Given the description of an element on the screen output the (x, y) to click on. 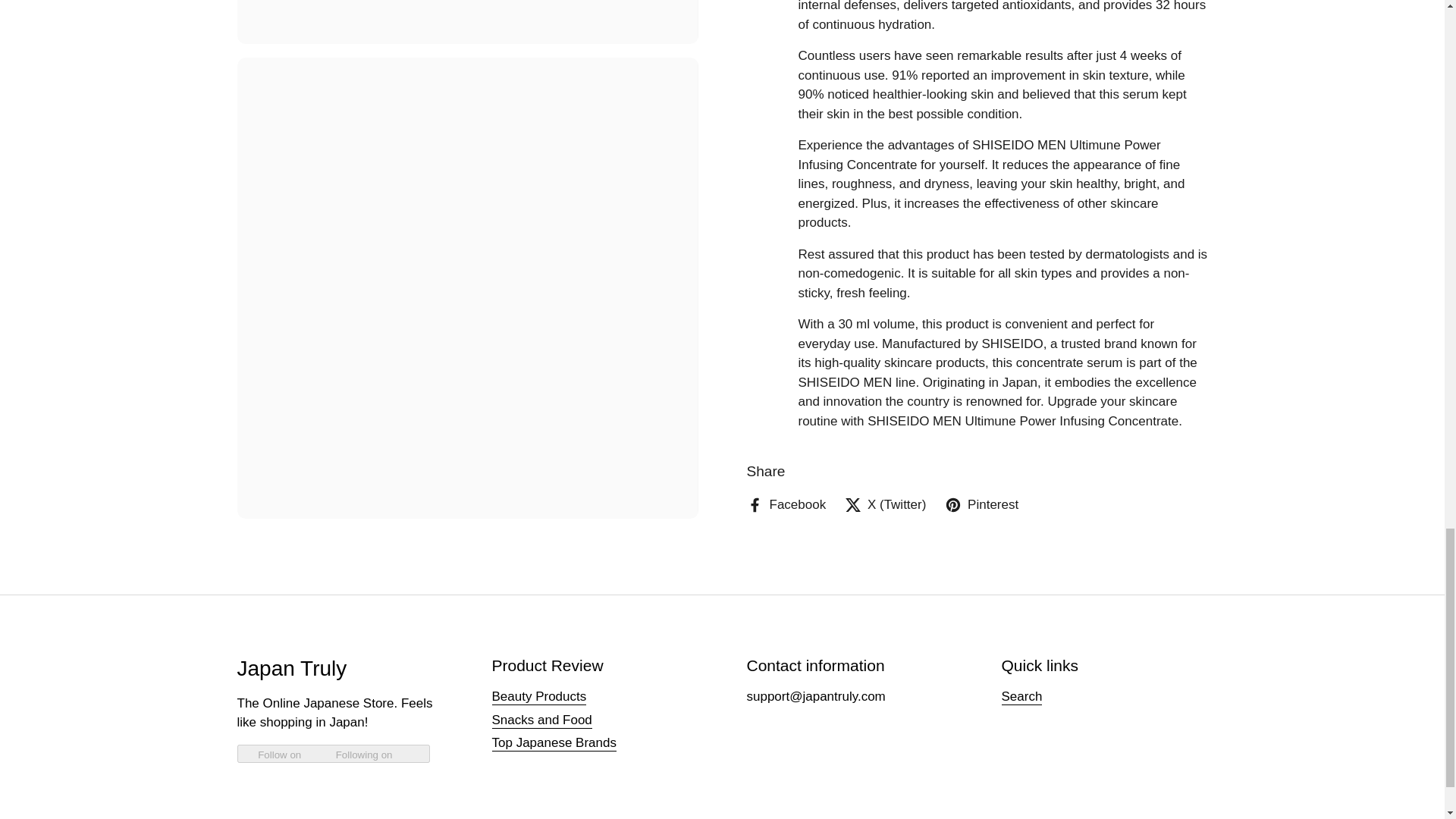
Share on X (885, 291)
Beauty Products (539, 697)
Share on facebook (785, 291)
Share on pinterest (980, 291)
Pinterest (980, 291)
Facebook (785, 291)
Snacks and Food (541, 720)
